Given the description of an element on the screen output the (x, y) to click on. 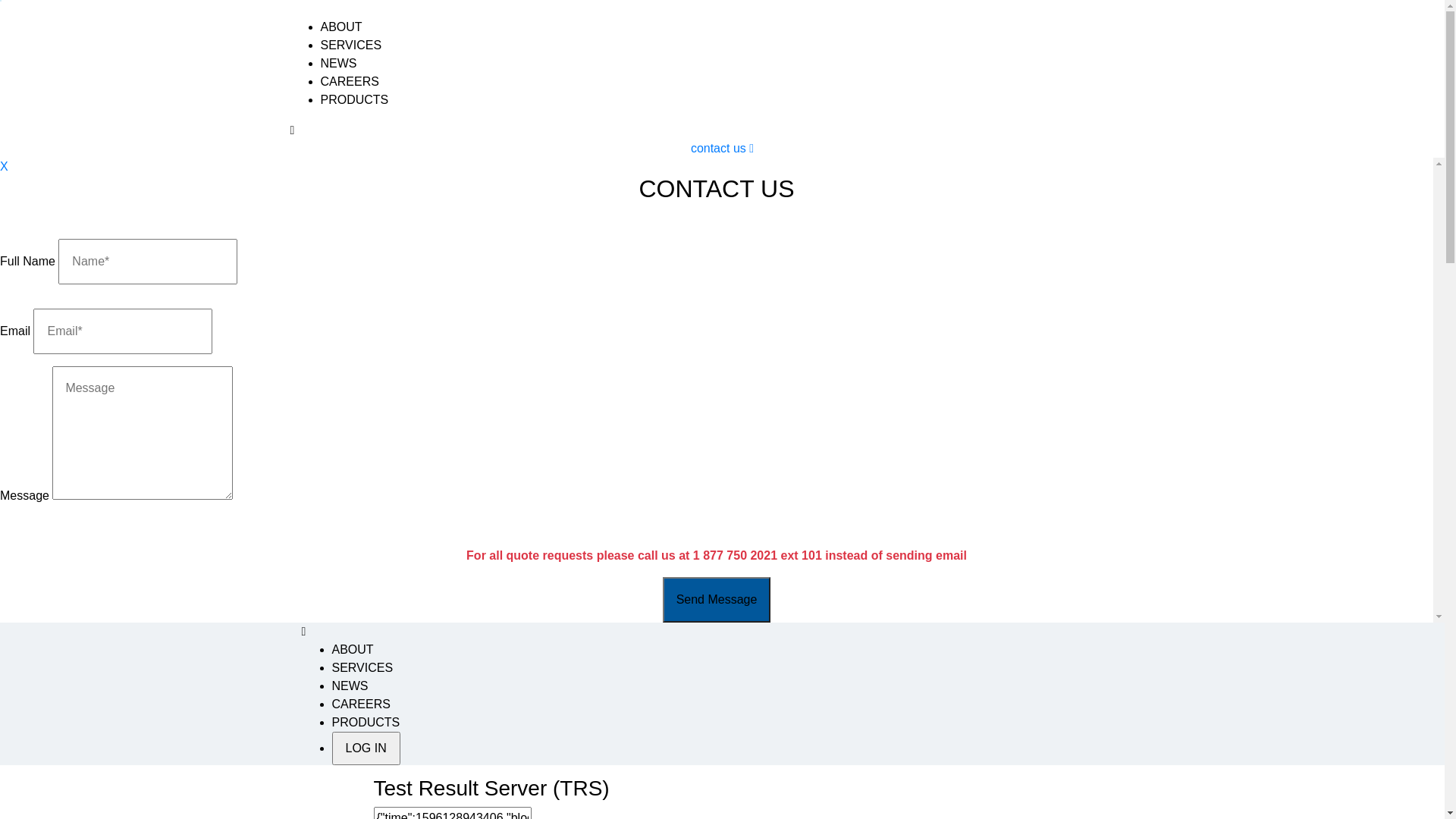
CAREERS Element type: text (361, 703)
SERVICES Element type: text (362, 667)
contact us Element type: text (718, 147)
Send Message Element type: text (716, 599)
NEWS Element type: text (350, 685)
LOG IN Element type: text (366, 748)
CAREERS Element type: text (349, 81)
SERVICES Element type: text (350, 44)
ABOUT Element type: text (352, 649)
PRODUCTS Element type: text (354, 99)
X Element type: text (4, 166)
NEWS Element type: text (338, 62)
PRODUCTS Element type: text (366, 721)
ABOUT Element type: text (340, 26)
